Given the description of an element on the screen output the (x, y) to click on. 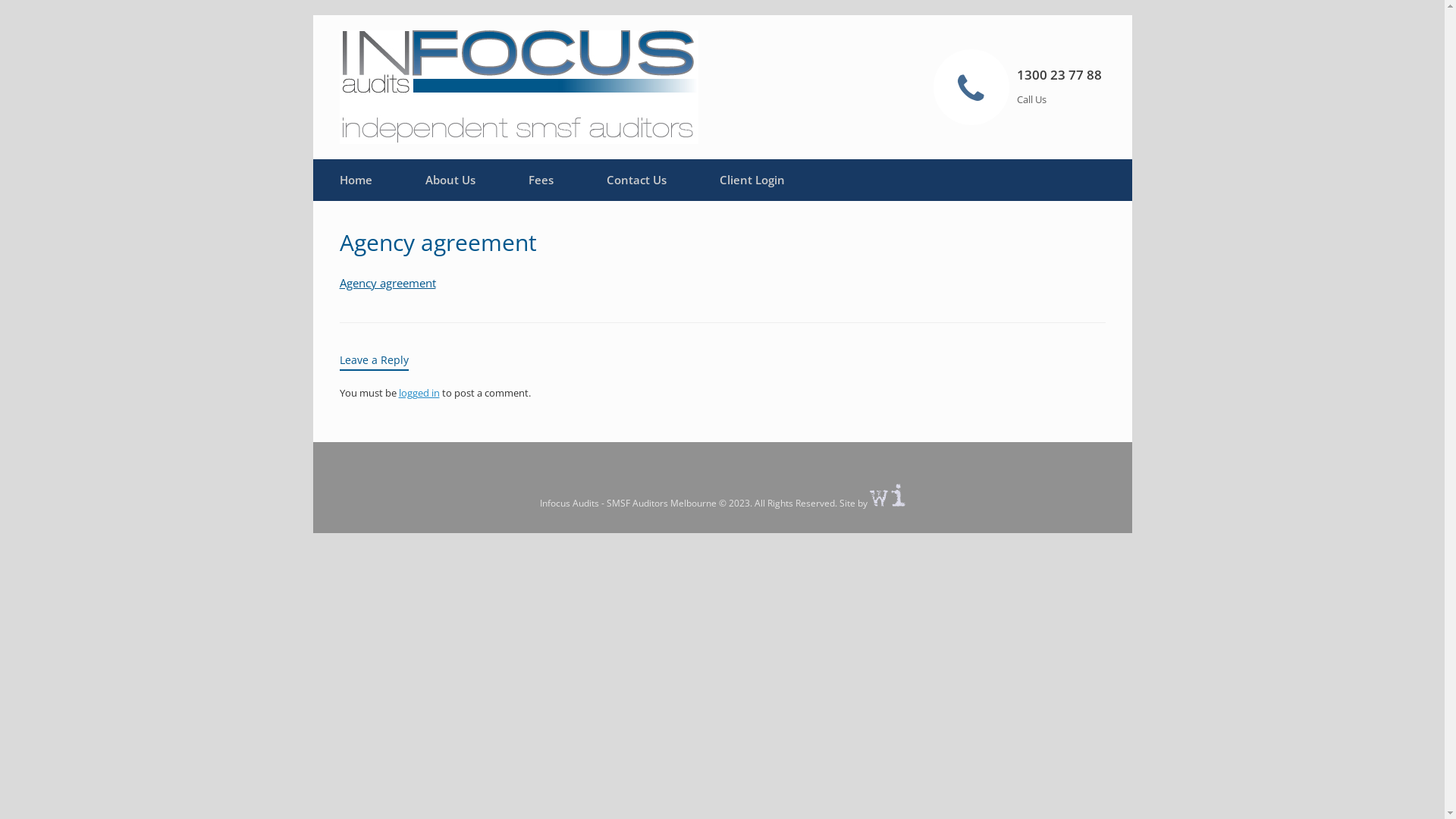
logged in Element type: text (418, 391)
Agency agreement Element type: text (387, 281)
Contact Us Element type: text (635, 179)
About Us Element type: text (450, 179)
Fees Element type: text (541, 179)
Client Login Element type: text (752, 179)
Home Element type: text (355, 179)
